Given the description of an element on the screen output the (x, y) to click on. 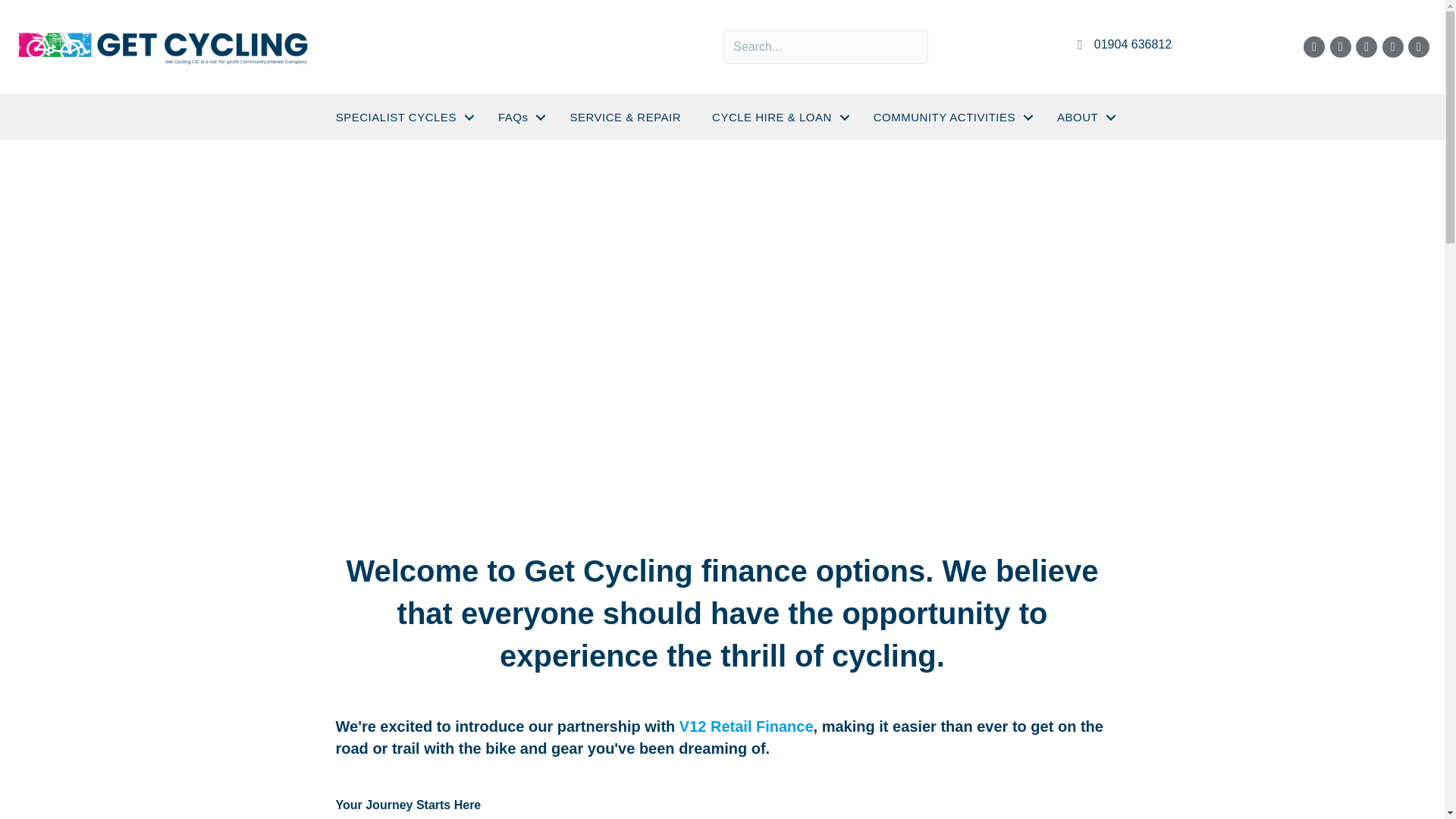
SPECIALIST CYCLES (400, 116)
FAQs (518, 116)
COMMUNITY ACTIVITIES (950, 116)
ABOUT (1083, 116)
